Given the description of an element on the screen output the (x, y) to click on. 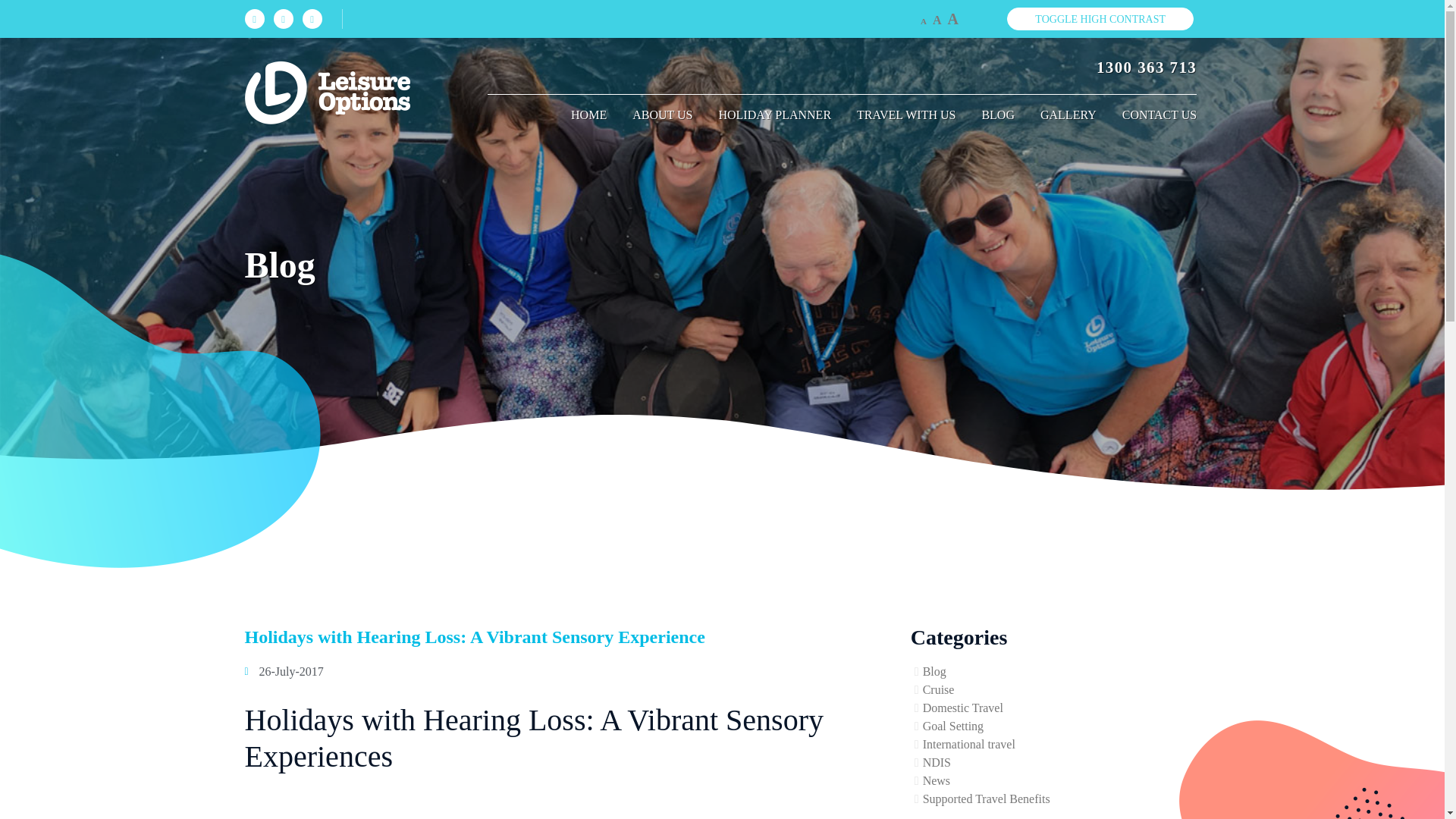
GALLERY (1068, 114)
TOGGLE HIGH CONTRAST (1099, 18)
HOLIDAY PLANNER (774, 114)
BLOG (997, 114)
HOME (588, 114)
TRAVEL WITH US (906, 114)
CONTACT US (1152, 114)
ABOUT US (662, 114)
